Given the description of an element on the screen output the (x, y) to click on. 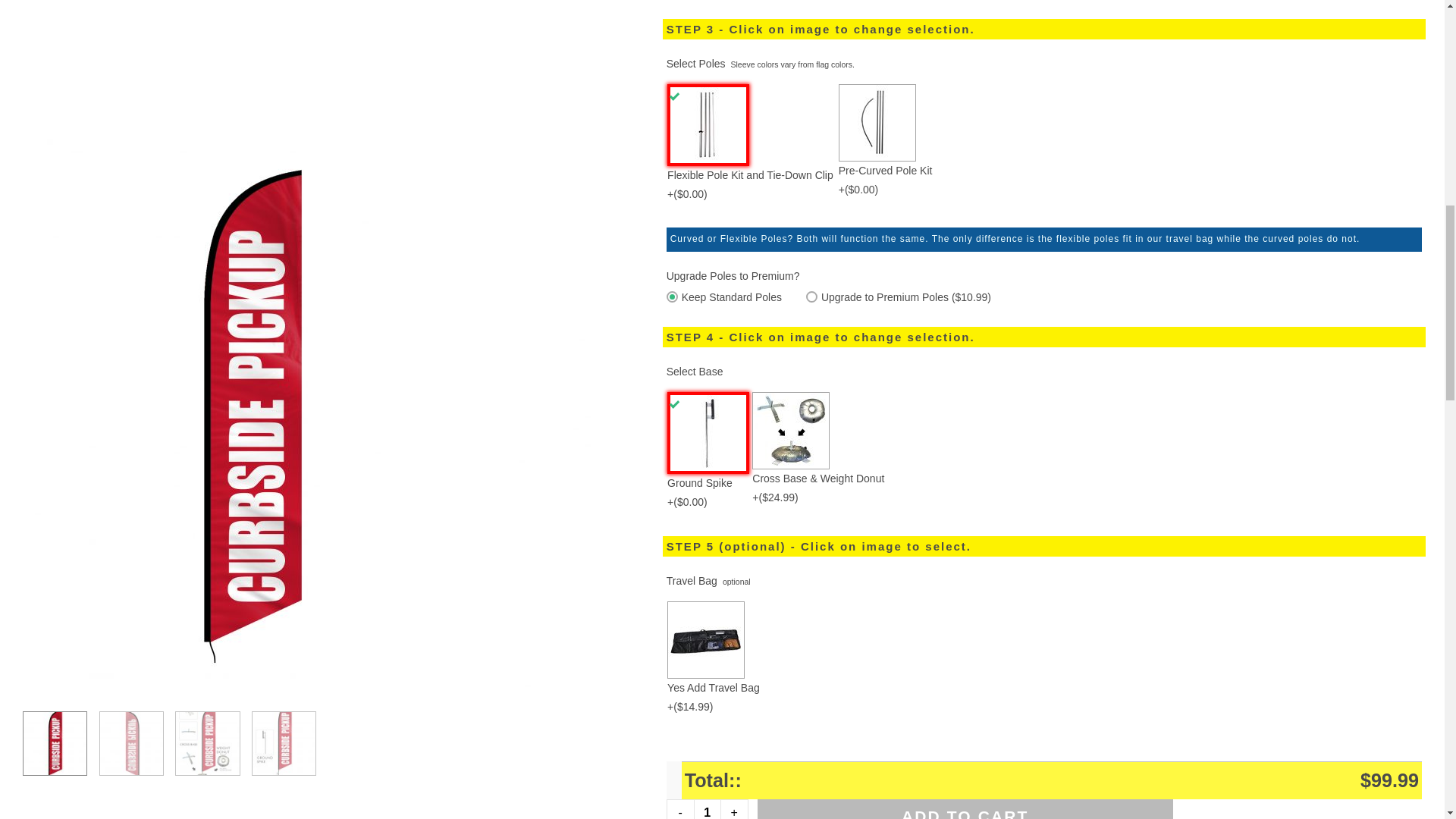
1 (707, 809)
